Given the description of an element on the screen output the (x, y) to click on. 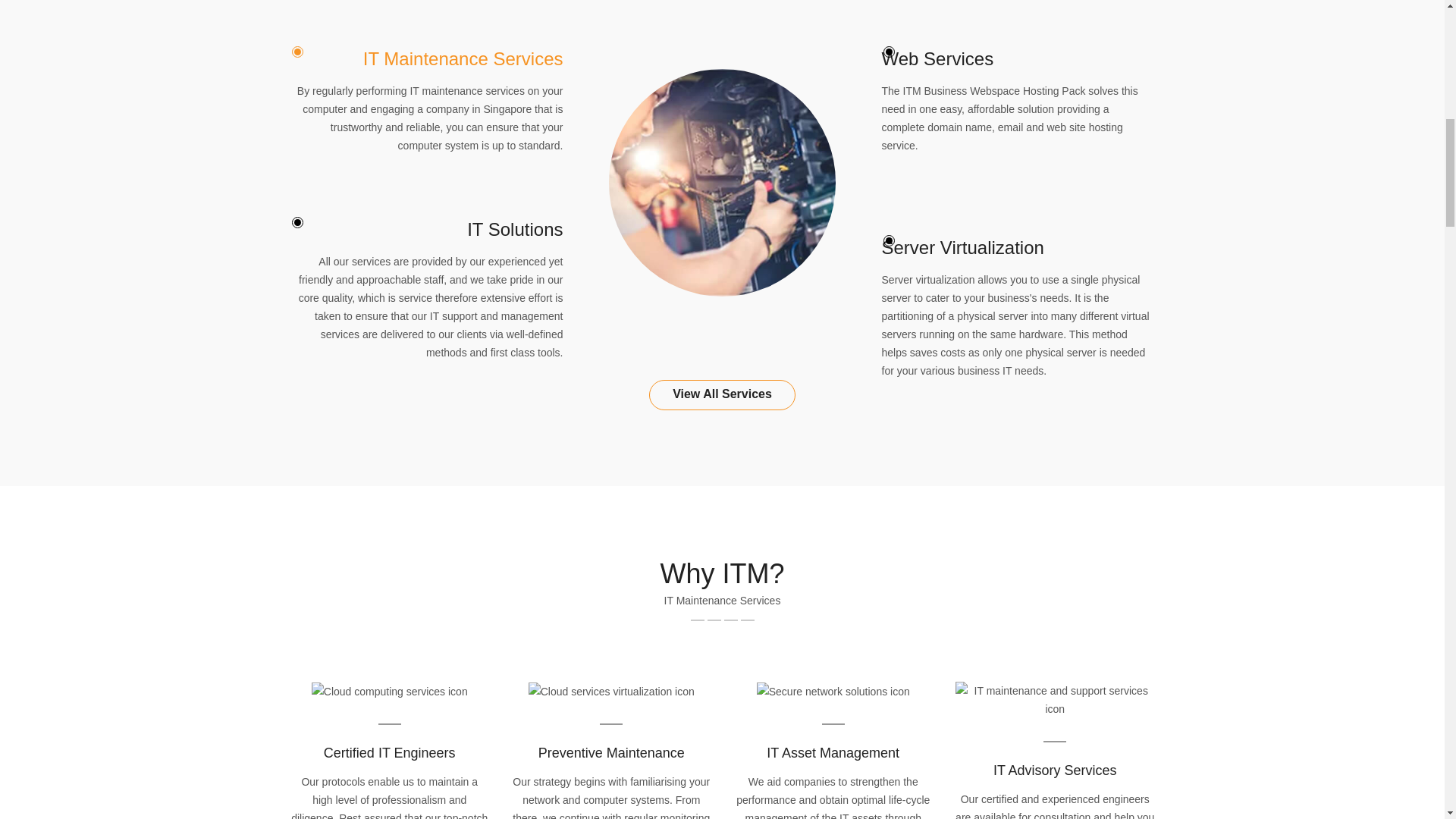
Web Services (938, 58)
View All Services (721, 395)
Server Virtualization (962, 247)
IT Maintenance Services (462, 58)
IT Solutions (514, 229)
